Given the description of an element on the screen output the (x, y) to click on. 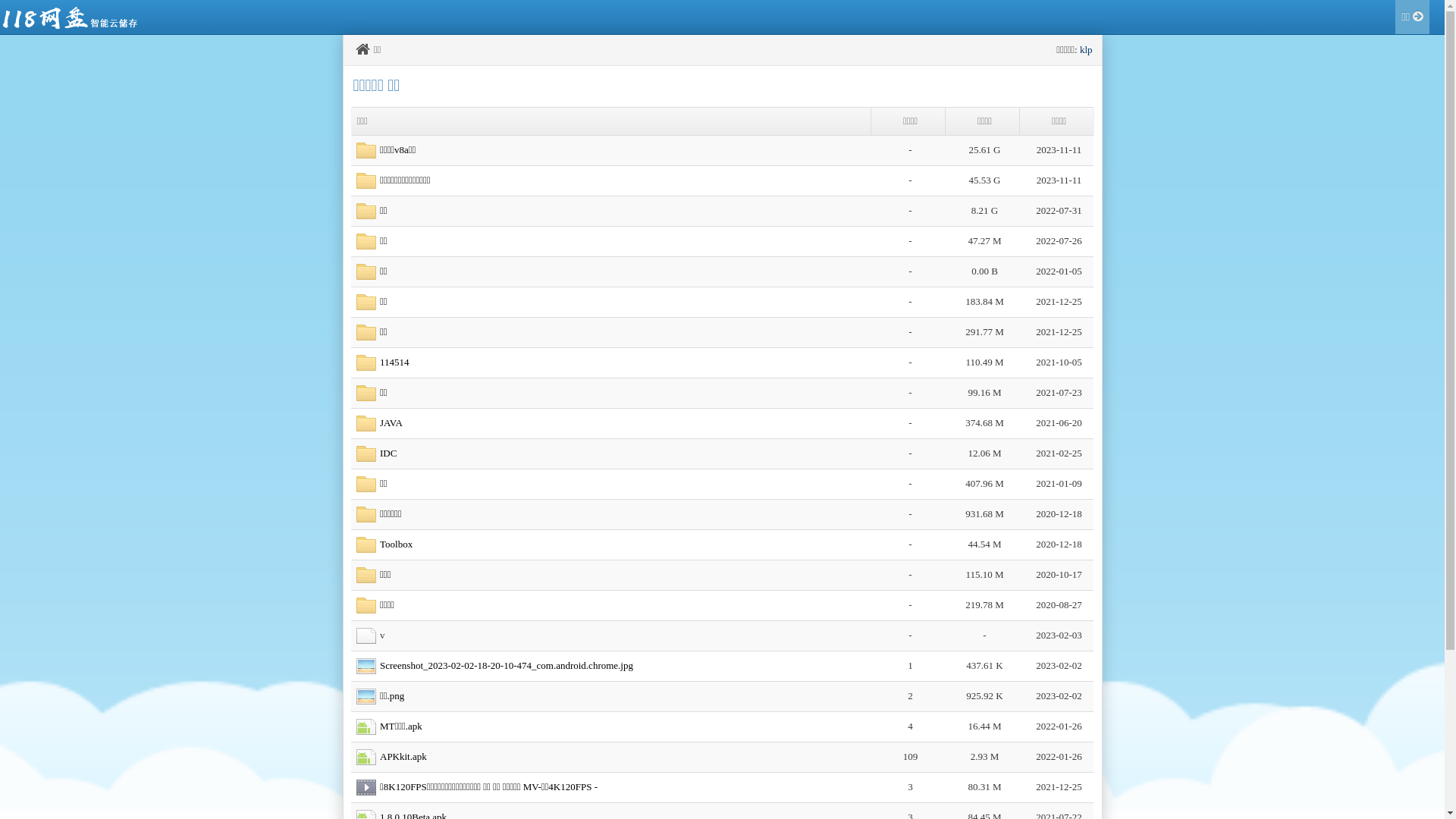
114514 Element type: text (394, 361)
Screenshot_2023-02-02-18-20-10-474_com.android.chrome.jpg Element type: text (506, 665)
25.61 G Element type: text (985, 149)
IDC Element type: text (387, 452)
APKkit.apk Element type: text (402, 756)
klp Element type: text (1085, 49)
12.06 M Element type: text (984, 452)
Toolbox Element type: text (395, 543)
931.68 M Element type: text (984, 513)
374.68 M Element type: text (984, 422)
219.78 M Element type: text (984, 604)
110.49 M Element type: text (984, 361)
291.77 M Element type: text (984, 331)
JAVA Element type: text (390, 422)
0.00 B Element type: text (984, 270)
45.53 G Element type: text (985, 179)
407.96 M Element type: text (984, 483)
183.84 M Element type: text (984, 301)
99.16 M Element type: text (984, 392)
8.21 G Element type: text (984, 210)
47.27 M Element type: text (984, 240)
44.54 M Element type: text (984, 543)
115.10 M Element type: text (984, 574)
